Given the description of an element on the screen output the (x, y) to click on. 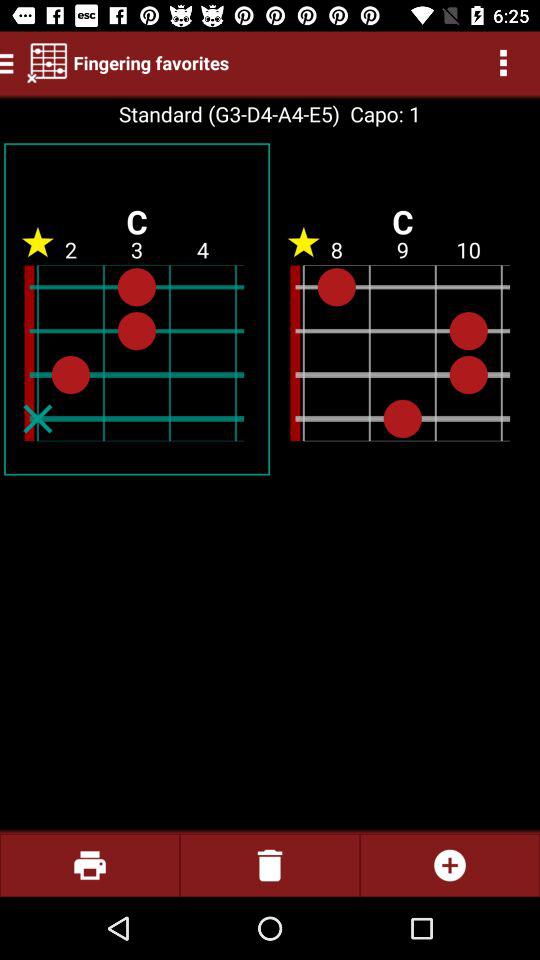
flip to the   capo: 1 item (379, 113)
